Given the description of an element on the screen output the (x, y) to click on. 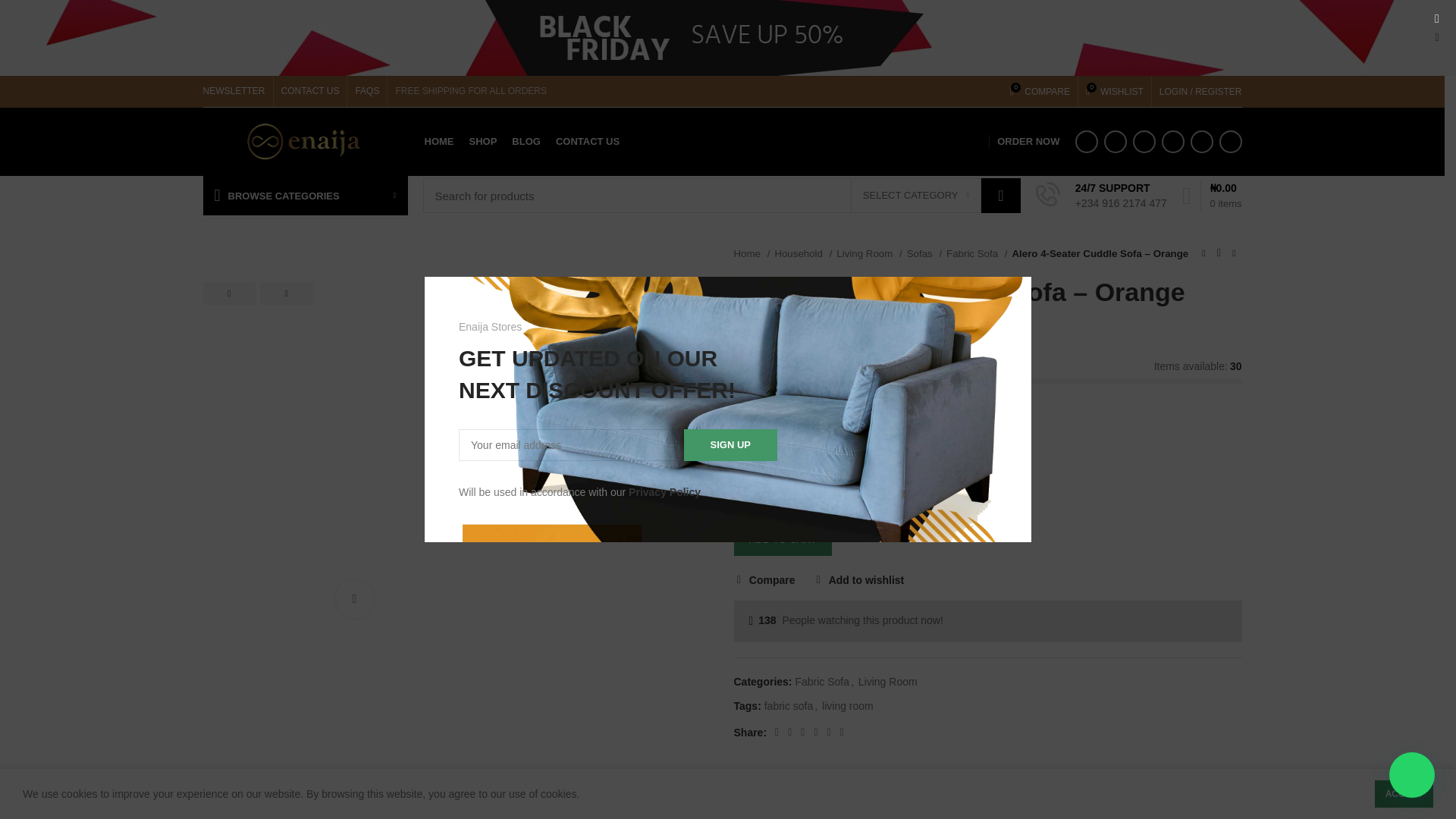
SELECT CATEGORY (915, 195)
ORDER NOW (1028, 141)
Sign up (730, 445)
Compare products (1040, 91)
SPECIAL OFFER (941, 141)
HOME (438, 141)
SHOP (482, 141)
CONTACT US (587, 141)
Privacy Policy (664, 491)
My Wishlist (1114, 91)
FAQS (1114, 91)
BLOG (367, 91)
NEWSLETTER (525, 141)
